Given the description of an element on the screen output the (x, y) to click on. 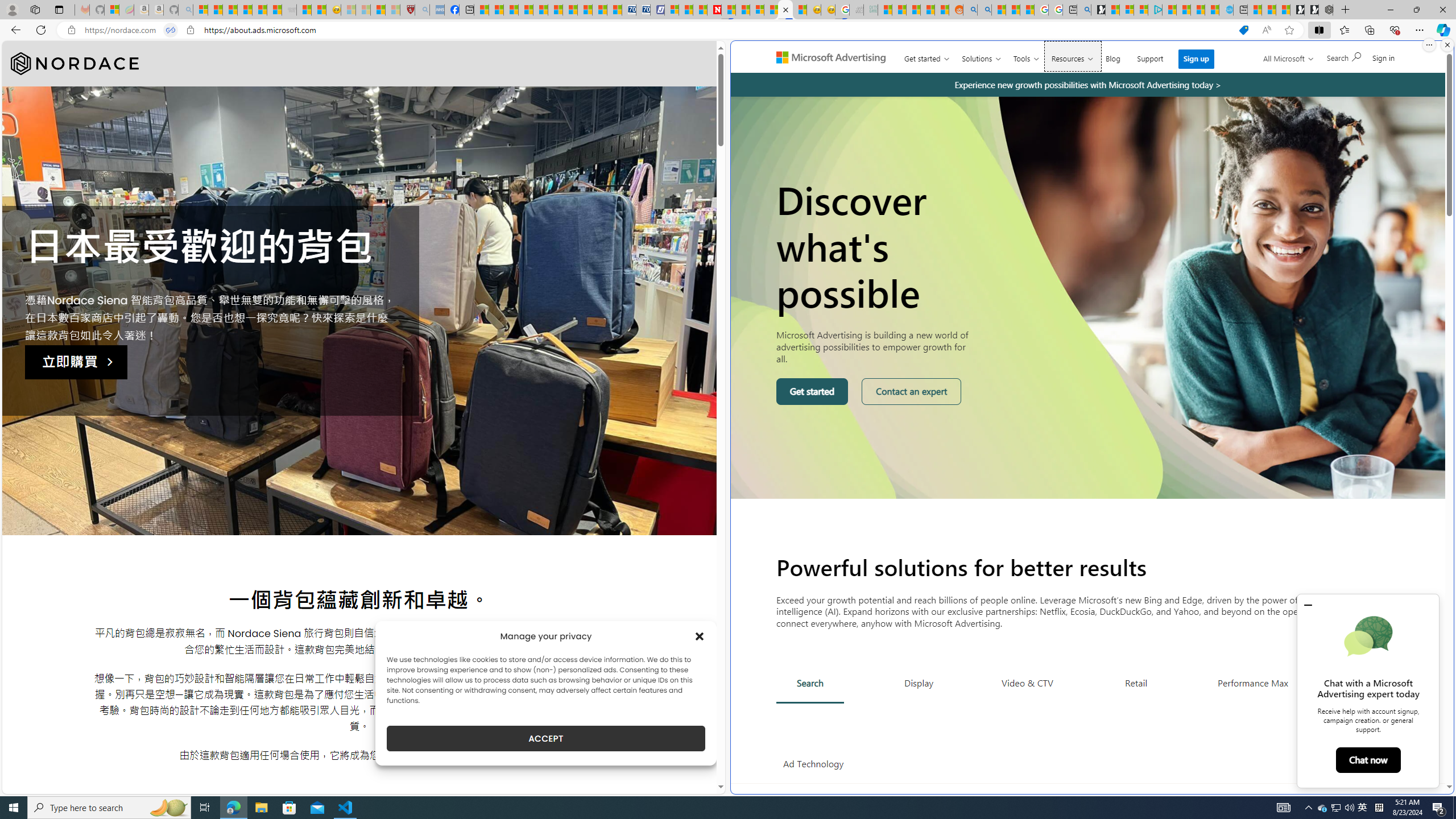
Newsweek - News, Analysis, Politics, Business, Technology (713, 9)
Display (918, 682)
